Given the description of an element on the screen output the (x, y) to click on. 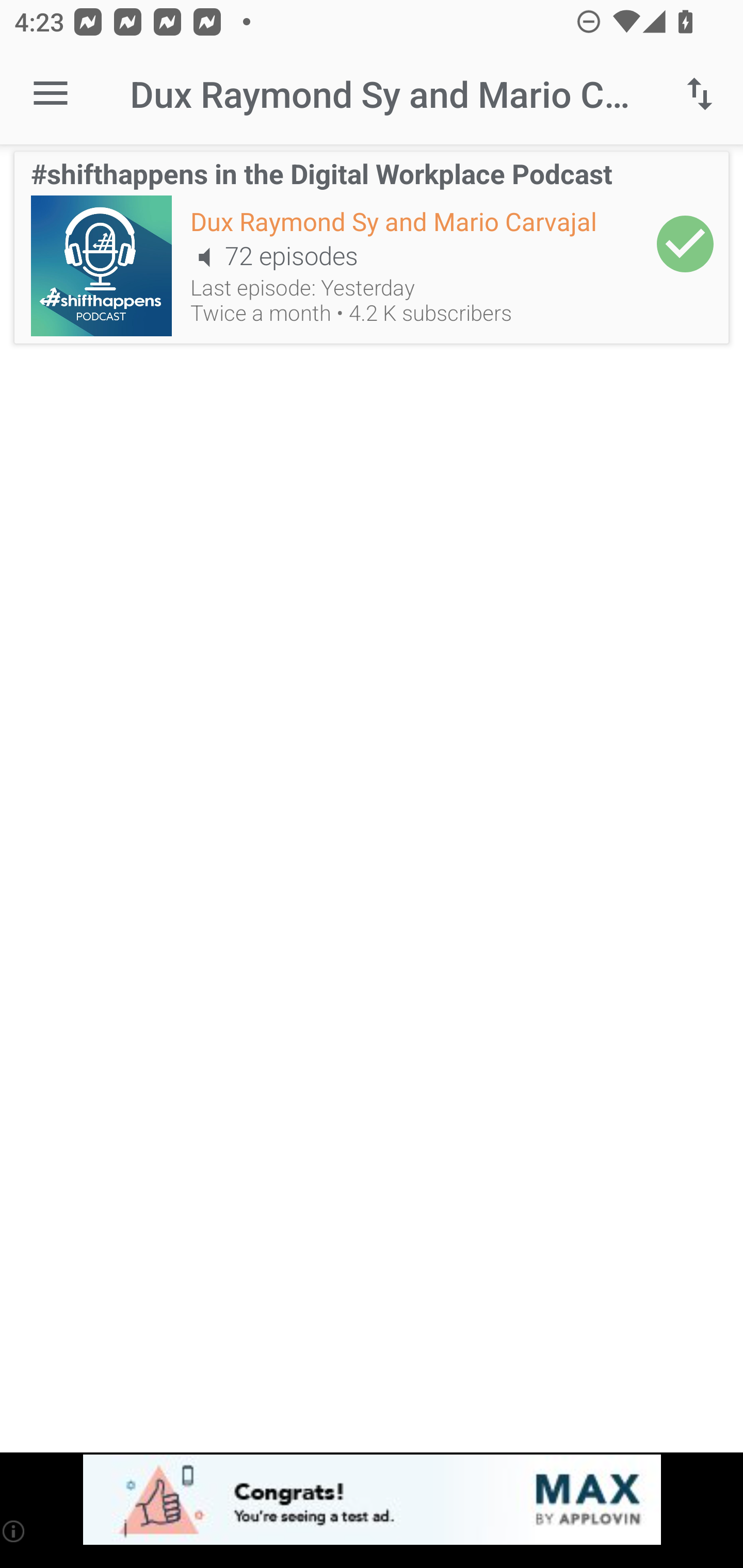
Open navigation sidebar (50, 93)
Sort (699, 93)
Add (684, 243)
app-monetization (371, 1500)
(i) (14, 1531)
